Given the description of an element on the screen output the (x, y) to click on. 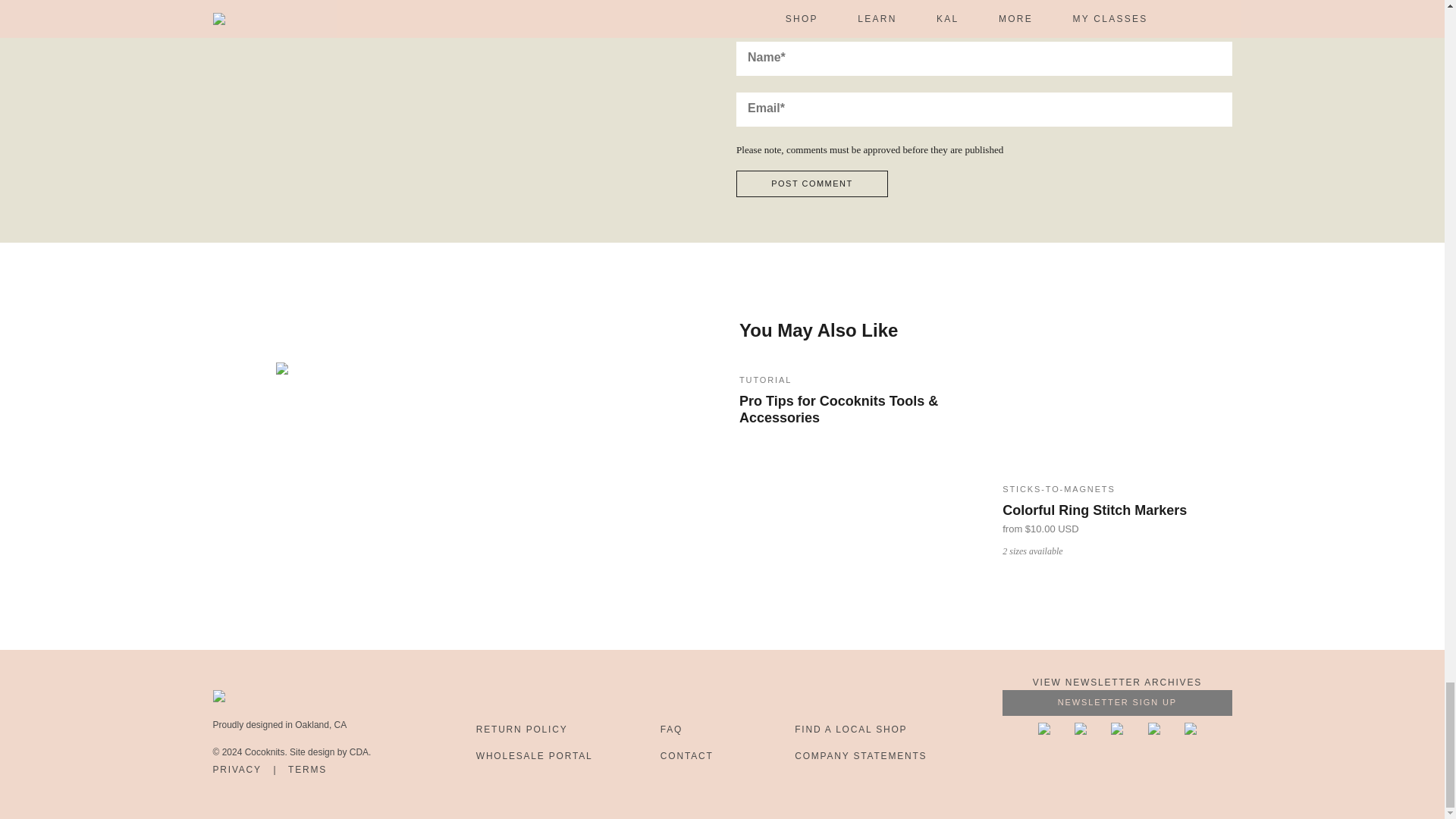
Post comment (812, 183)
Cocoknits on YouTube (1128, 731)
Cocoknits on Ravelry (1190, 731)
Cocoknits on Facebook (1056, 731)
Cocoknits on Pinterest (1092, 731)
Cocoknits on Instagram (1166, 731)
